Given the description of an element on the screen output the (x, y) to click on. 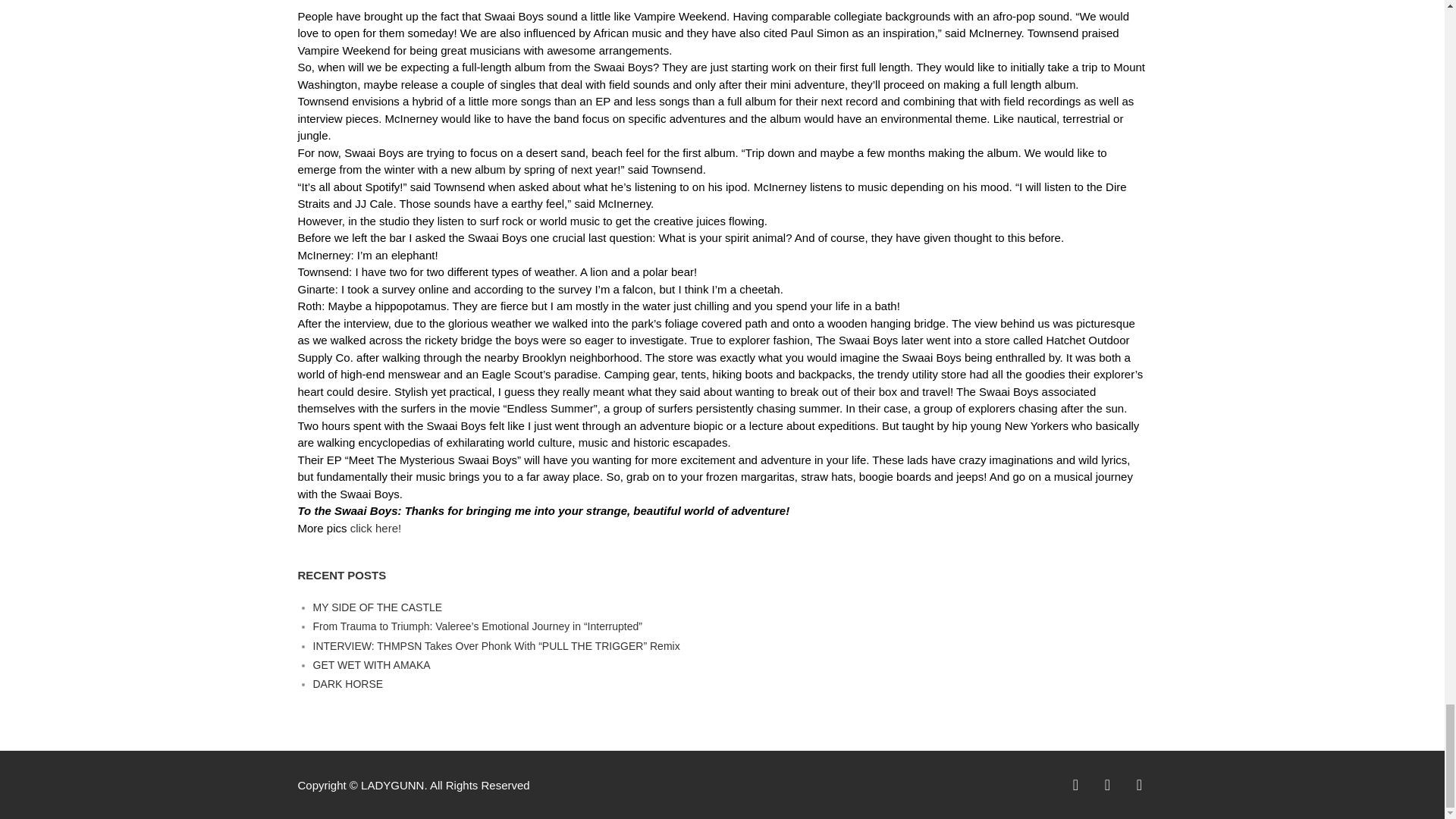
click here! (375, 527)
MY SIDE OF THE CASTLE (377, 607)
GET WET WITH AMAKA (371, 664)
DARK HORSE (347, 684)
